Given the description of an element on the screen output the (x, y) to click on. 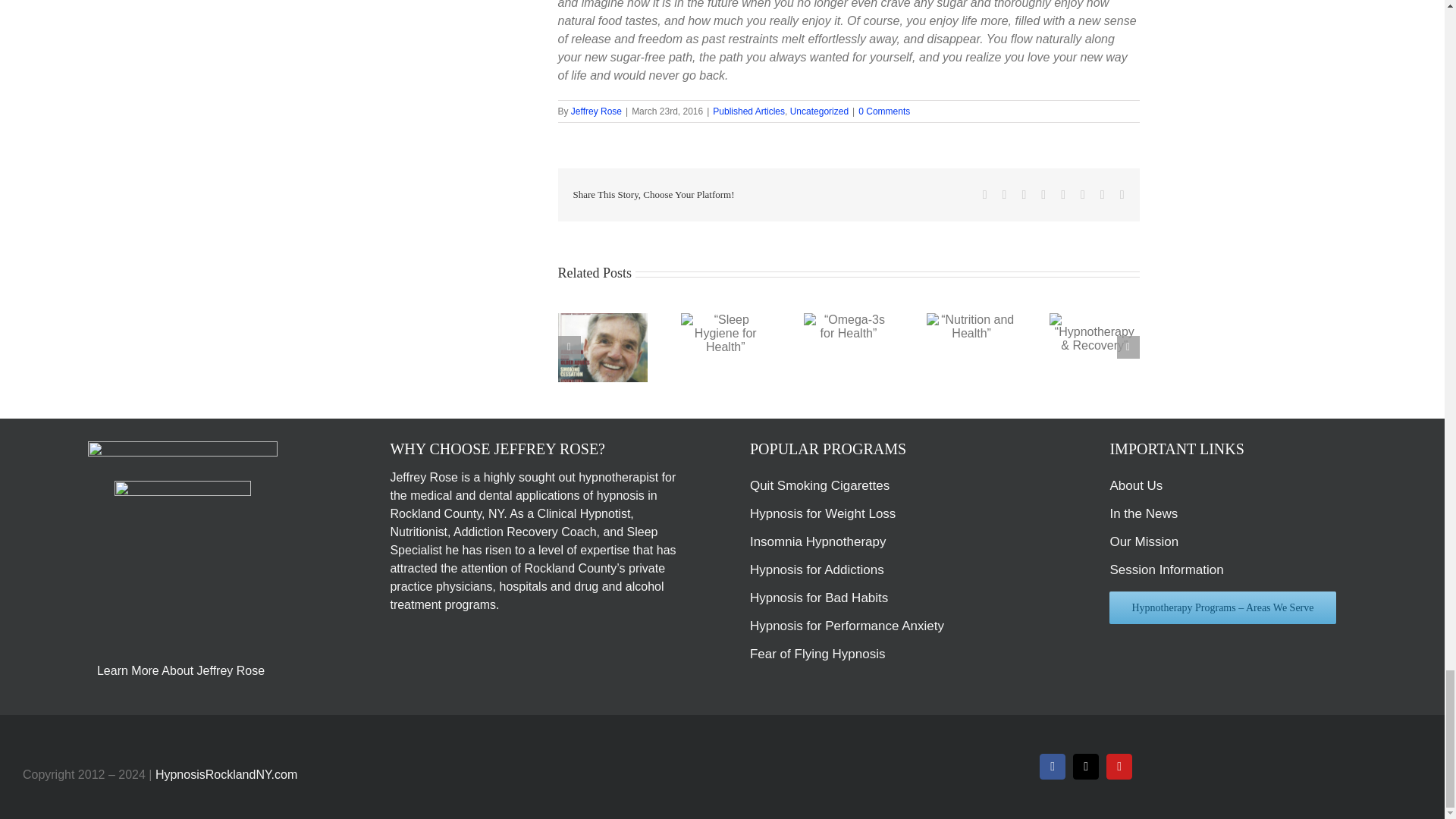
Posts by Jeffrey Rose (595, 111)
South Florida Hypnotherapy (618, 477)
hypnosisrocklandlogo (182, 453)
